Given the description of an element on the screen output the (x, y) to click on. 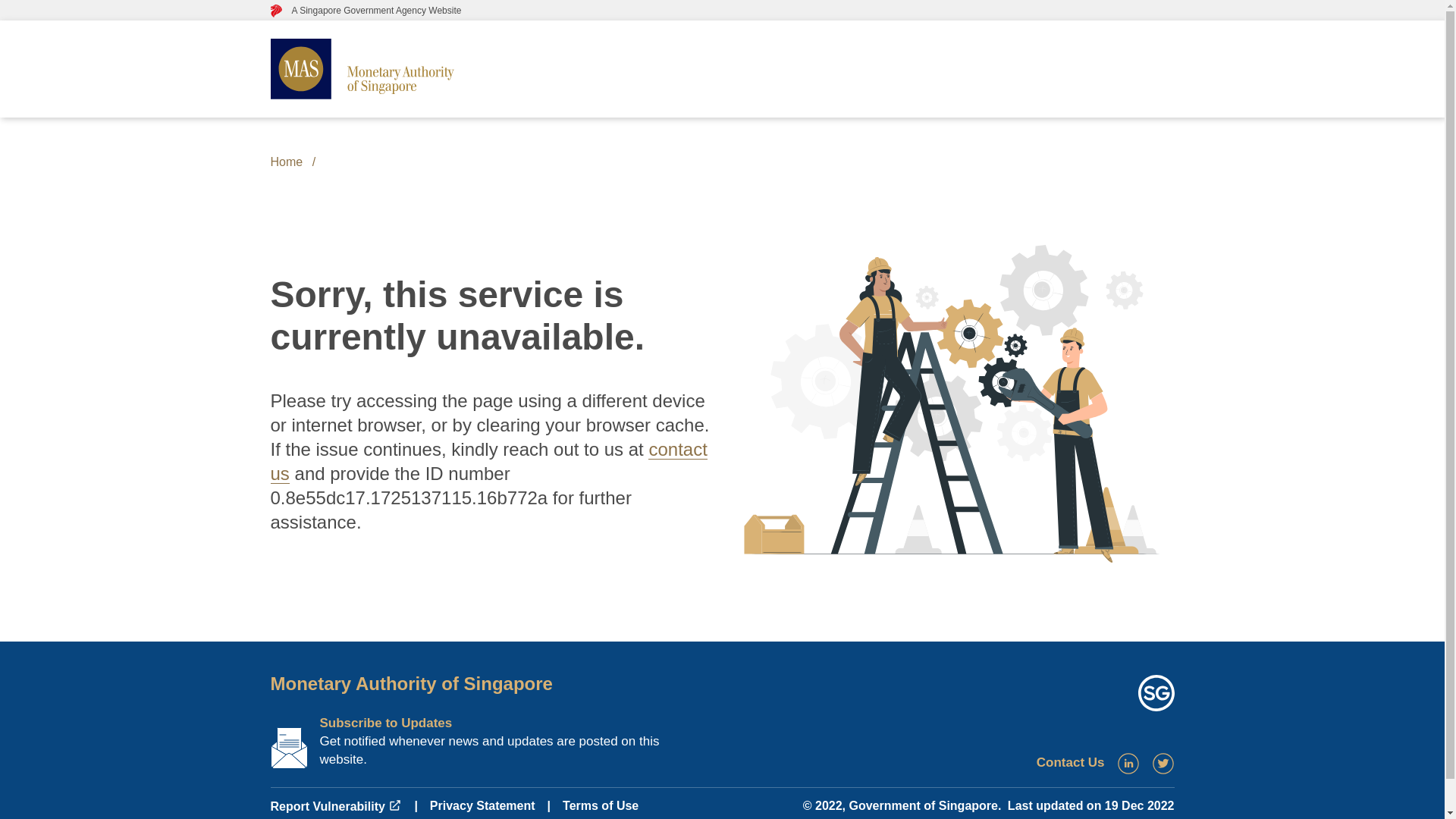
Report Vulnerability (335, 806)
Terms of Use (600, 805)
Monetary Authority of Singapore (410, 683)
Home (285, 161)
Privacy Statement (482, 805)
contact us (487, 461)
A Singapore Government Agency Website (365, 10)
Contact Us (1070, 762)
